Given the description of an element on the screen output the (x, y) to click on. 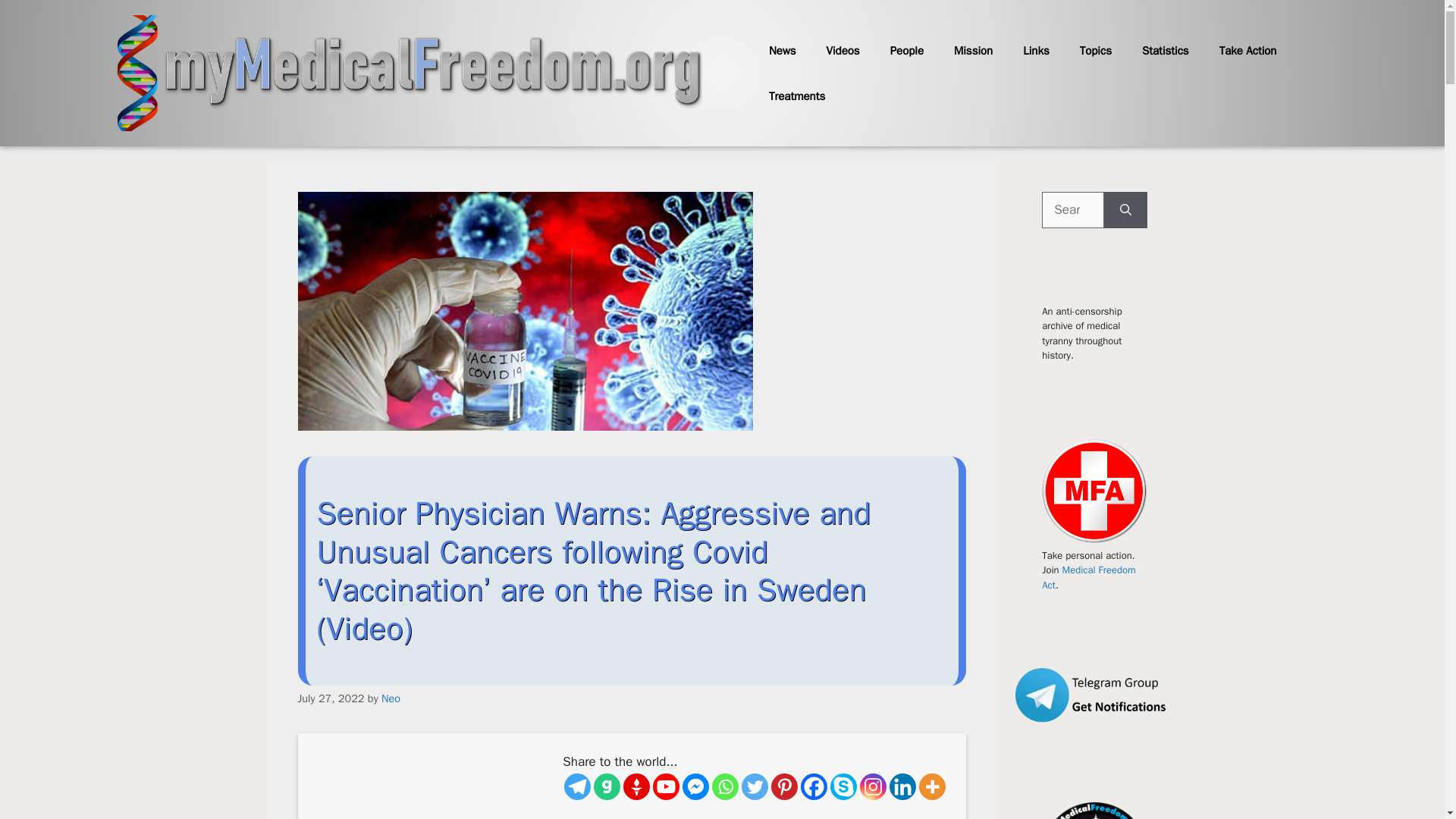
Pinterest (784, 786)
View all posts by Neo (390, 698)
Skype (843, 786)
Treatments (797, 95)
Telegram (577, 786)
Facebook (813, 786)
Topics (1095, 50)
Links (1035, 50)
Neo (390, 698)
Whatsapp (724, 786)
